Given the description of an element on the screen output the (x, y) to click on. 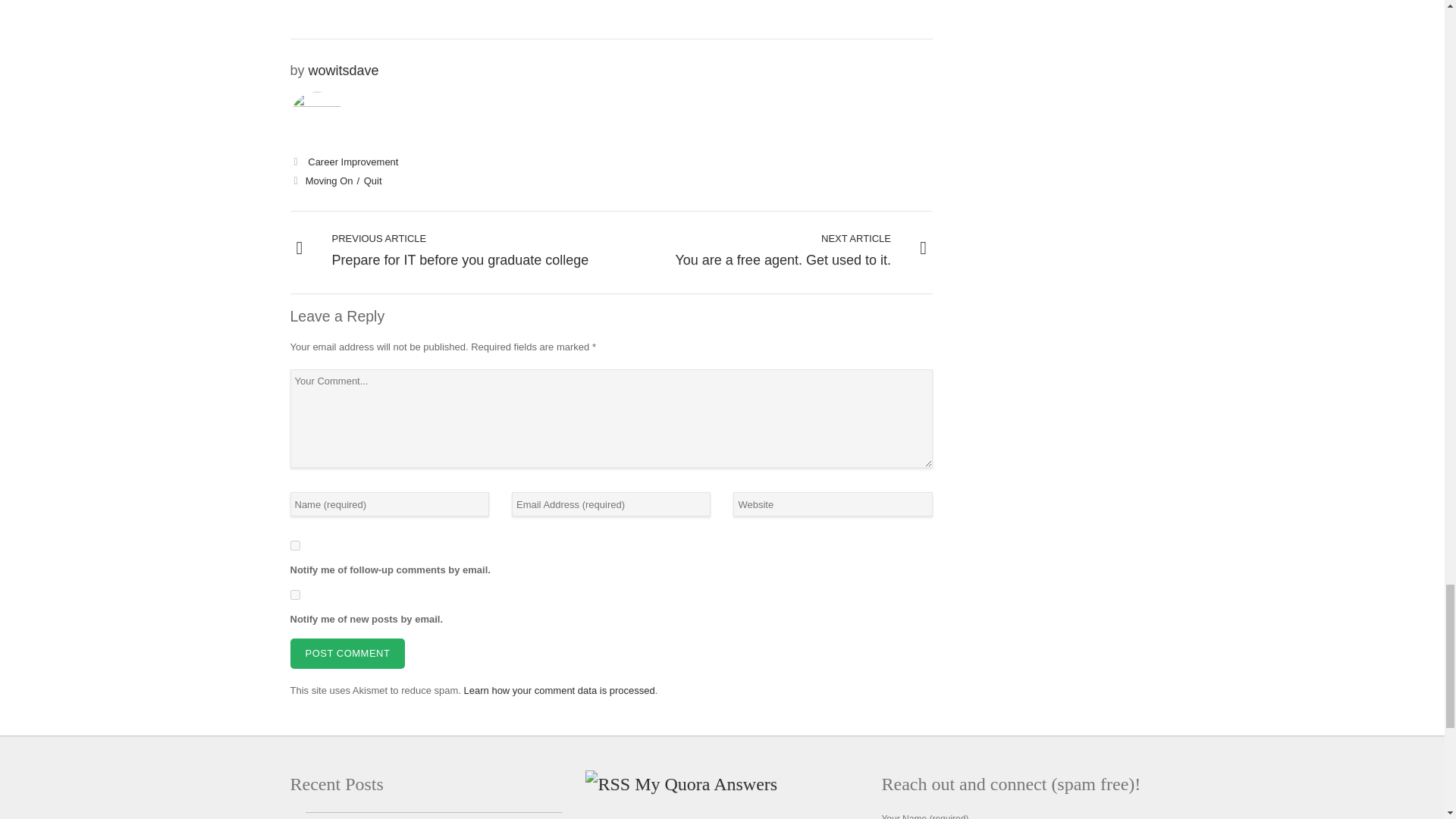
Moving On (333, 180)
wowitsdave (343, 70)
subscribe (294, 545)
Learn how your comment data is processed (559, 690)
Career Improvement (352, 161)
subscribe (294, 594)
Quit (450, 250)
Post Comment (372, 180)
